Given the description of an element on the screen output the (x, y) to click on. 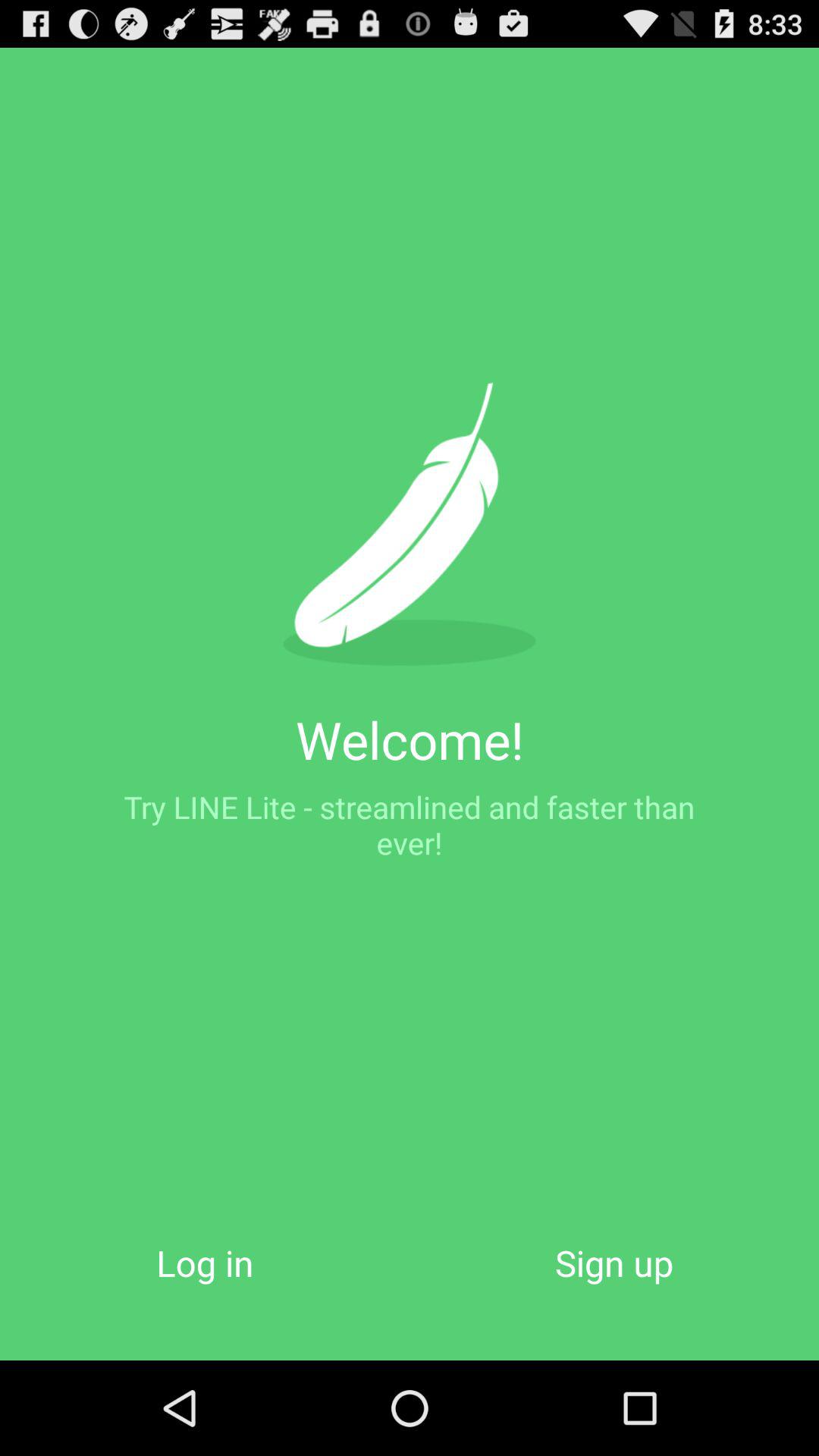
jump until the log in item (204, 1262)
